Given the description of an element on the screen output the (x, y) to click on. 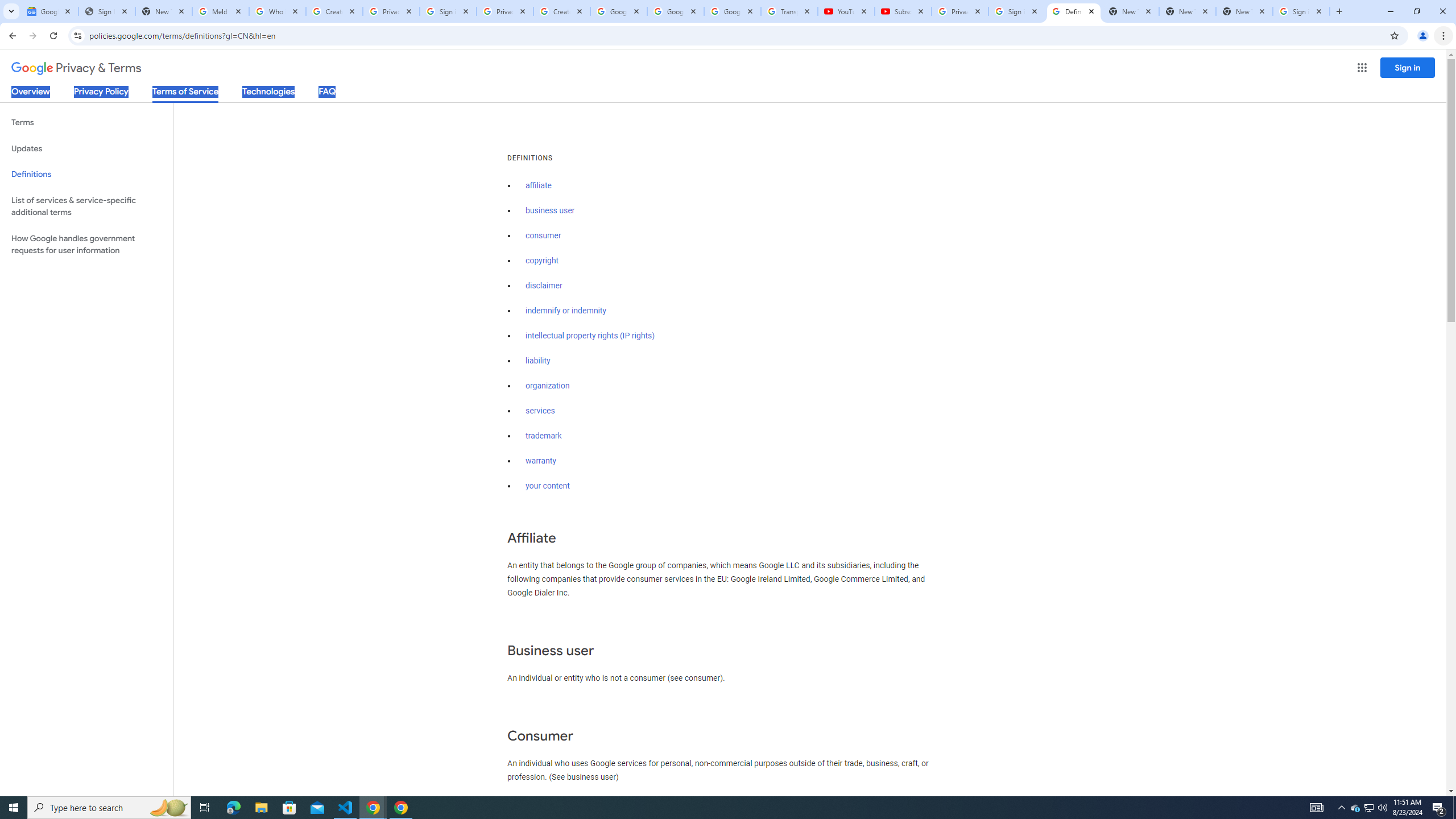
affiliate (538, 185)
Create your Google Account (334, 11)
Sign In - USA TODAY (105, 11)
New Tab (1244, 11)
indemnify or indemnity (565, 311)
